Given the description of an element on the screen output the (x, y) to click on. 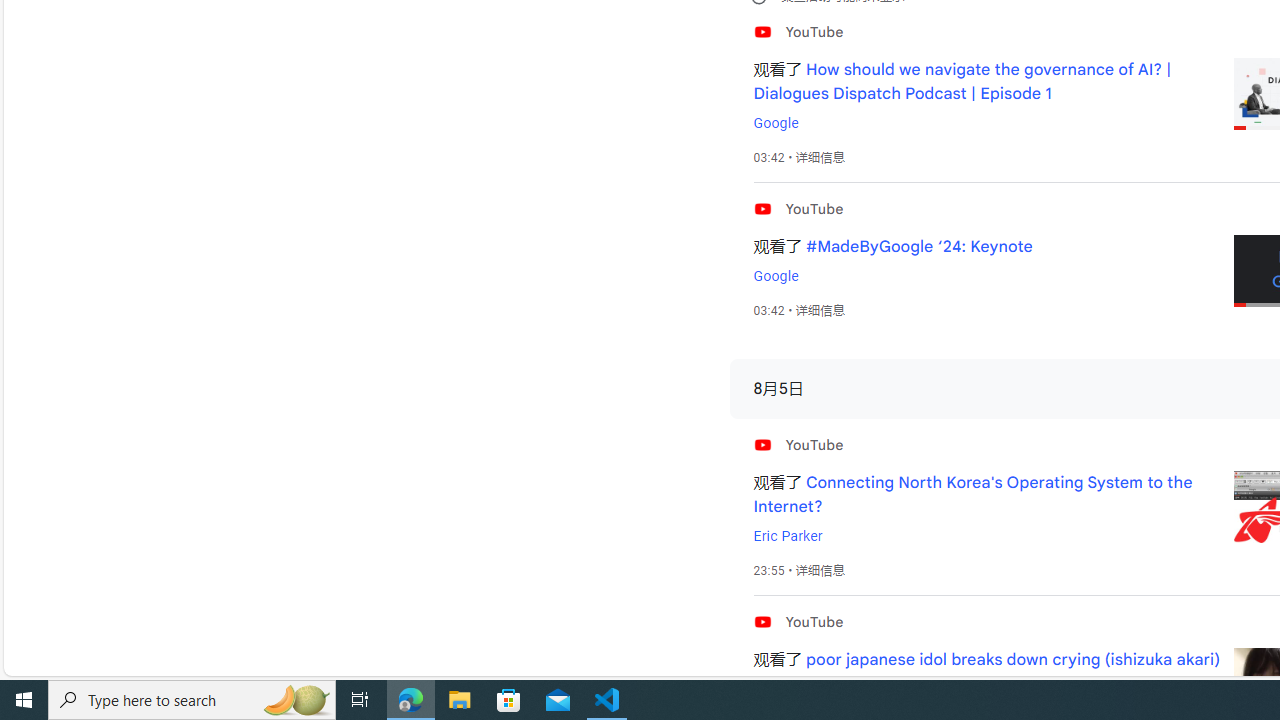
Google (775, 276)
poor japanese idol breaks down crying (ishizuka akari) (1013, 660)
Connecting North Korea's Operating System to the Internet? (972, 494)
Eric Parker (787, 536)
